Given the description of an element on the screen output the (x, y) to click on. 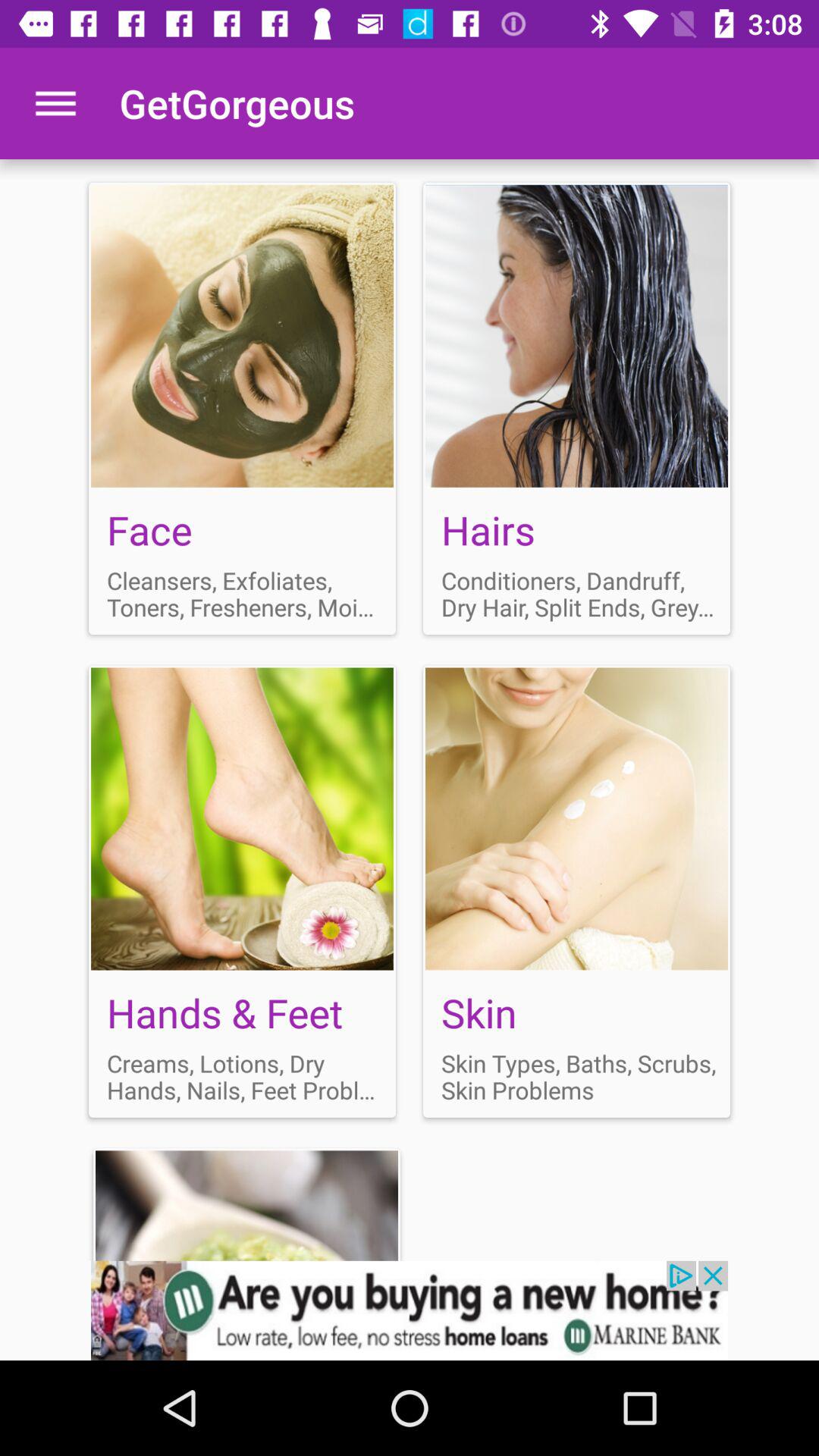
advertisement (576, 891)
